Given the description of an element on the screen output the (x, y) to click on. 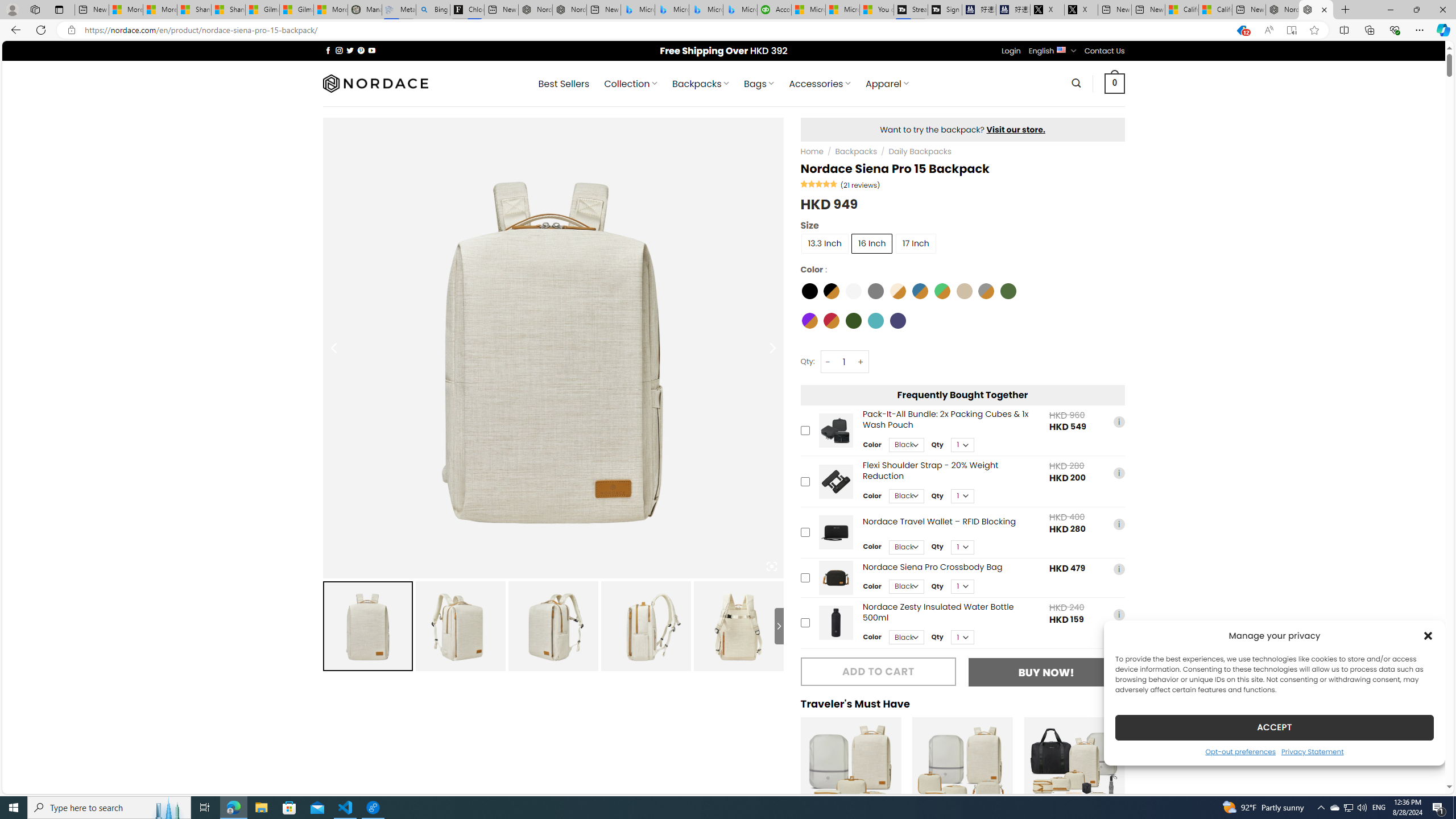
Contact Us (1104, 50)
ACCEPT (1274, 727)
Backpacks (855, 151)
Gilma and Hector both pose tropical trouble for Hawaii (296, 9)
Nordace (374, 83)
 Best Sellers (563, 83)
Daily Backpacks (920, 151)
Nordace Siena Pro 15 Backpack (1316, 9)
Class: flickity-button-icon (1136, 786)
Login (1010, 50)
Pack-It-All Bundle: 2x Packing Cubes & 1x Wash Pouch (835, 429)
